Given the description of an element on the screen output the (x, y) to click on. 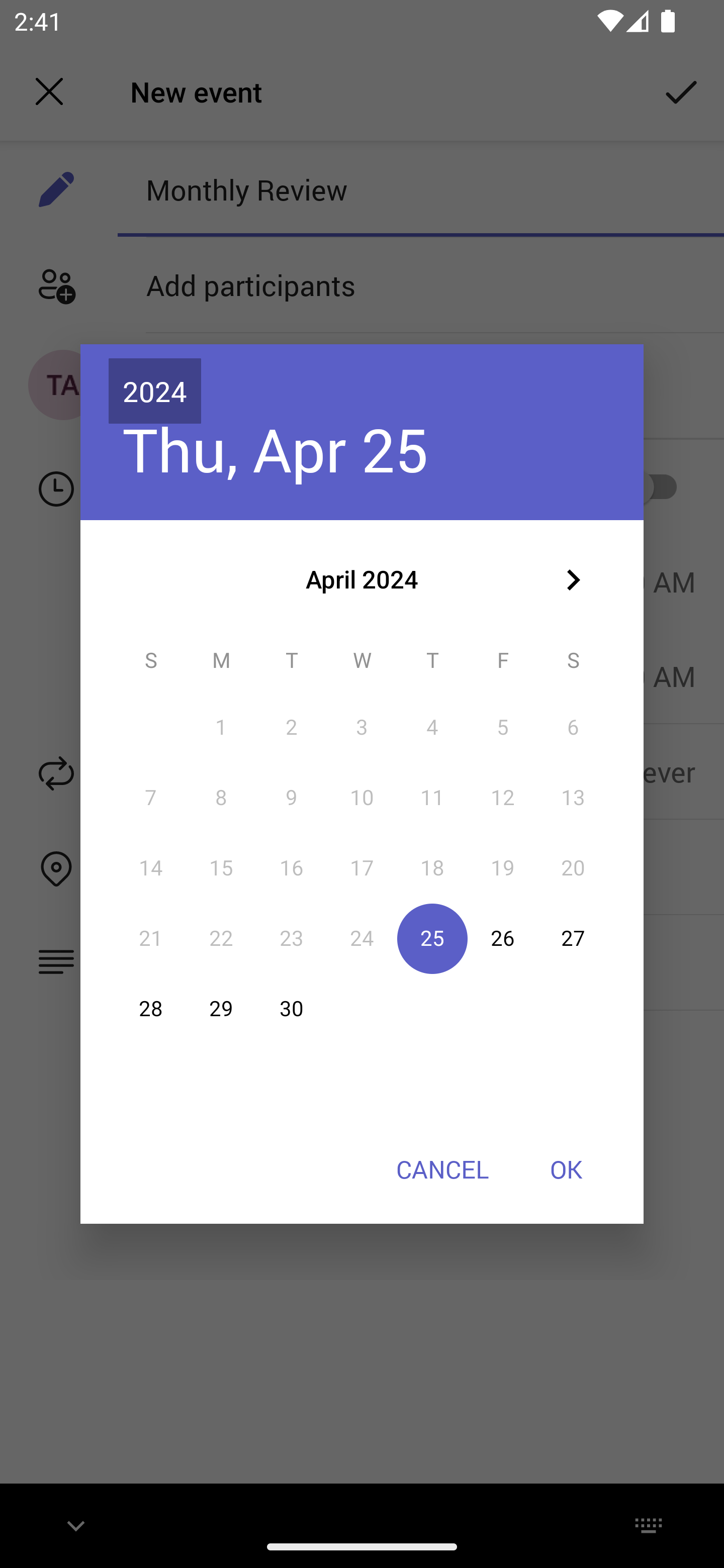
2024 (154, 391)
Thu, Apr 25 (275, 449)
Next month (572, 579)
1 01 April 2024 (221, 728)
2 02 April 2024 (291, 728)
3 03 April 2024 (361, 728)
4 04 April 2024 (432, 728)
5 05 April 2024 (502, 728)
6 06 April 2024 (572, 728)
7 07 April 2024 (150, 797)
8 08 April 2024 (221, 797)
9 09 April 2024 (291, 797)
10 10 April 2024 (361, 797)
11 11 April 2024 (432, 797)
12 12 April 2024 (502, 797)
13 13 April 2024 (572, 797)
14 14 April 2024 (150, 867)
15 15 April 2024 (221, 867)
16 16 April 2024 (291, 867)
17 17 April 2024 (361, 867)
18 18 April 2024 (432, 867)
19 19 April 2024 (502, 867)
20 20 April 2024 (572, 867)
21 21 April 2024 (150, 938)
22 22 April 2024 (221, 938)
23 23 April 2024 (291, 938)
24 24 April 2024 (361, 938)
25 25 April 2024 (432, 938)
26 26 April 2024 (502, 938)
27 27 April 2024 (572, 938)
28 28 April 2024 (150, 1008)
29 29 April 2024 (221, 1008)
30 30 April 2024 (291, 1008)
CANCEL (442, 1168)
OK (565, 1168)
